Given the description of an element on the screen output the (x, y) to click on. 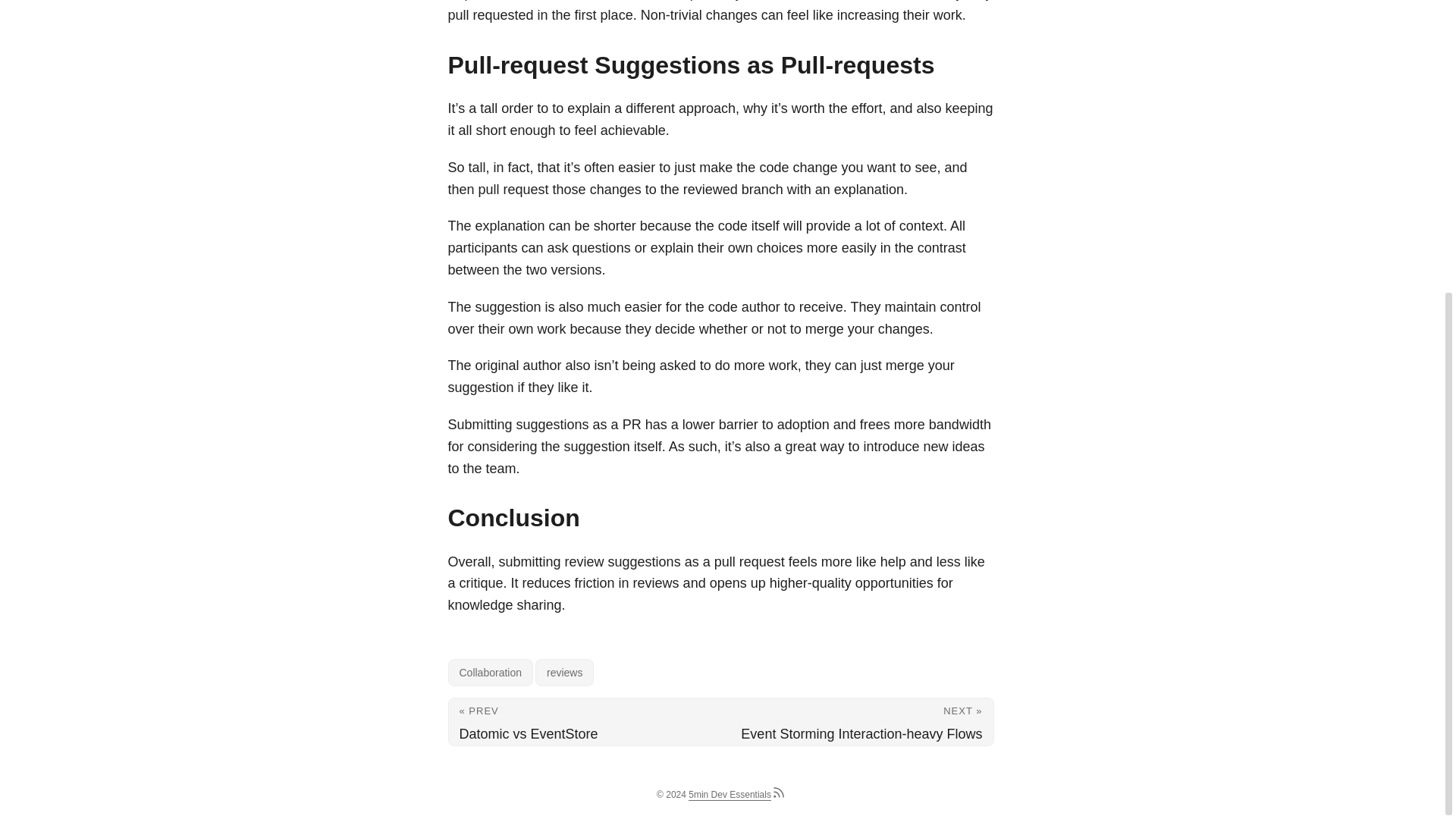
5min Dev Essentials (729, 794)
Collaboration (489, 672)
RSS (778, 796)
reviews (564, 672)
